Given the description of an element on the screen output the (x, y) to click on. 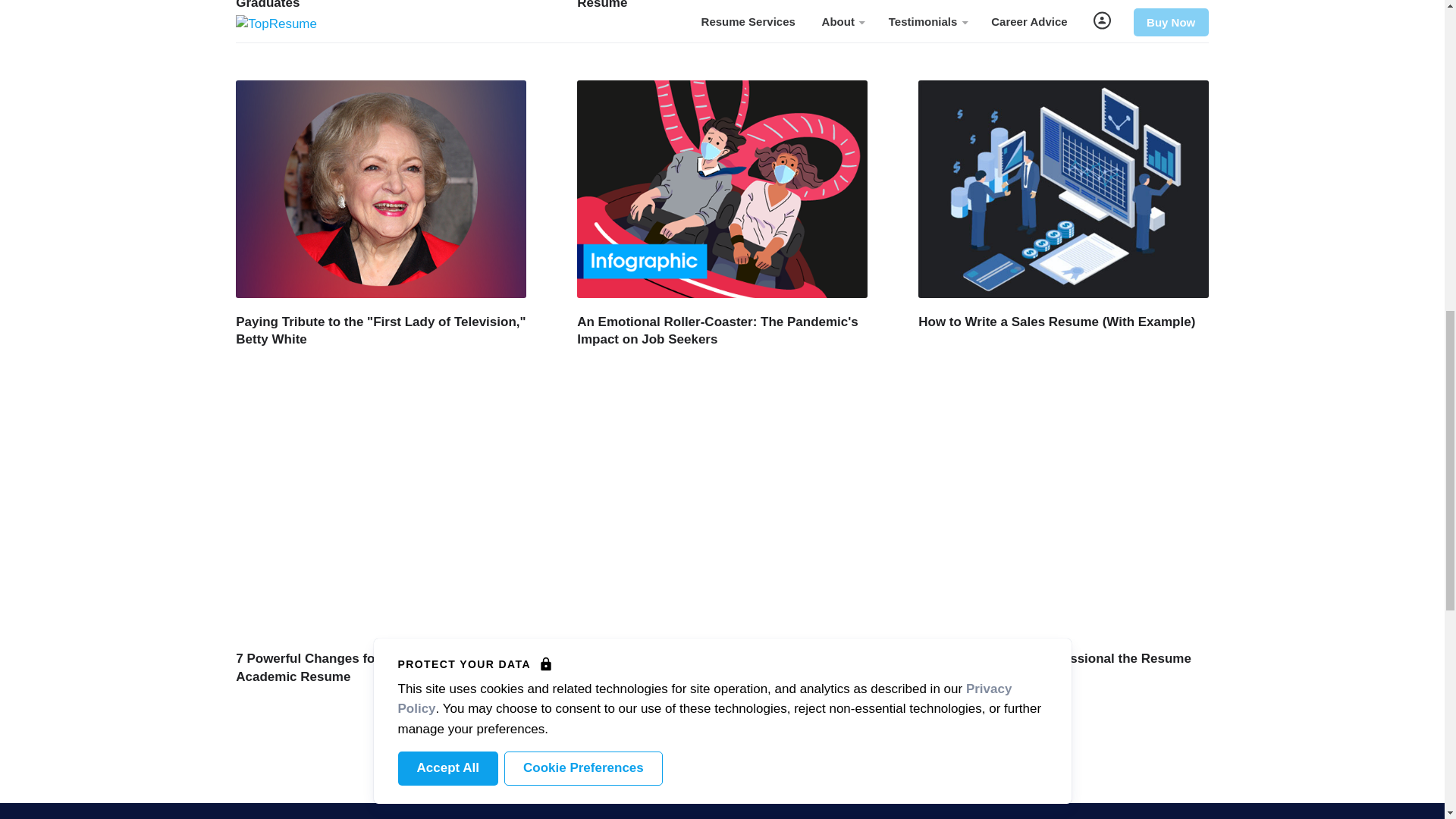
Perfect Resume Guide for Recent College Graduates (362, 4)
10 Impactful Updates for Your Executive-Level Resume (718, 4)
7 Powerful Changes for Your Higher Education Academic Resume (378, 667)
3 Simple Job Search Steps: Prep, Search, Close (703, 667)
